Given the description of an element on the screen output the (x, y) to click on. 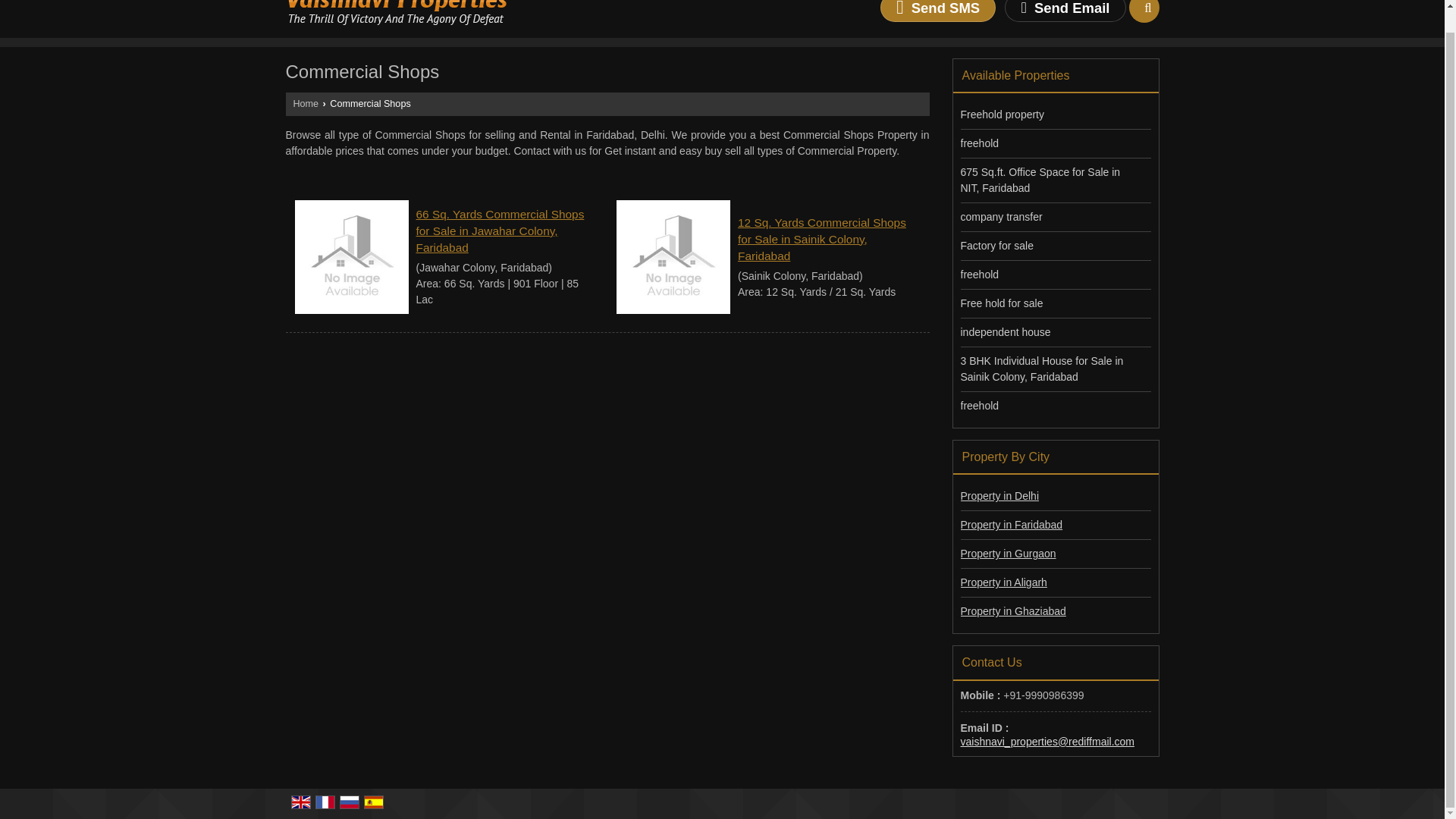
Vaishnavi Properties (395, 12)
Search (1143, 11)
Send SMS (937, 10)
Send Email (1064, 10)
